Given the description of an element on the screen output the (x, y) to click on. 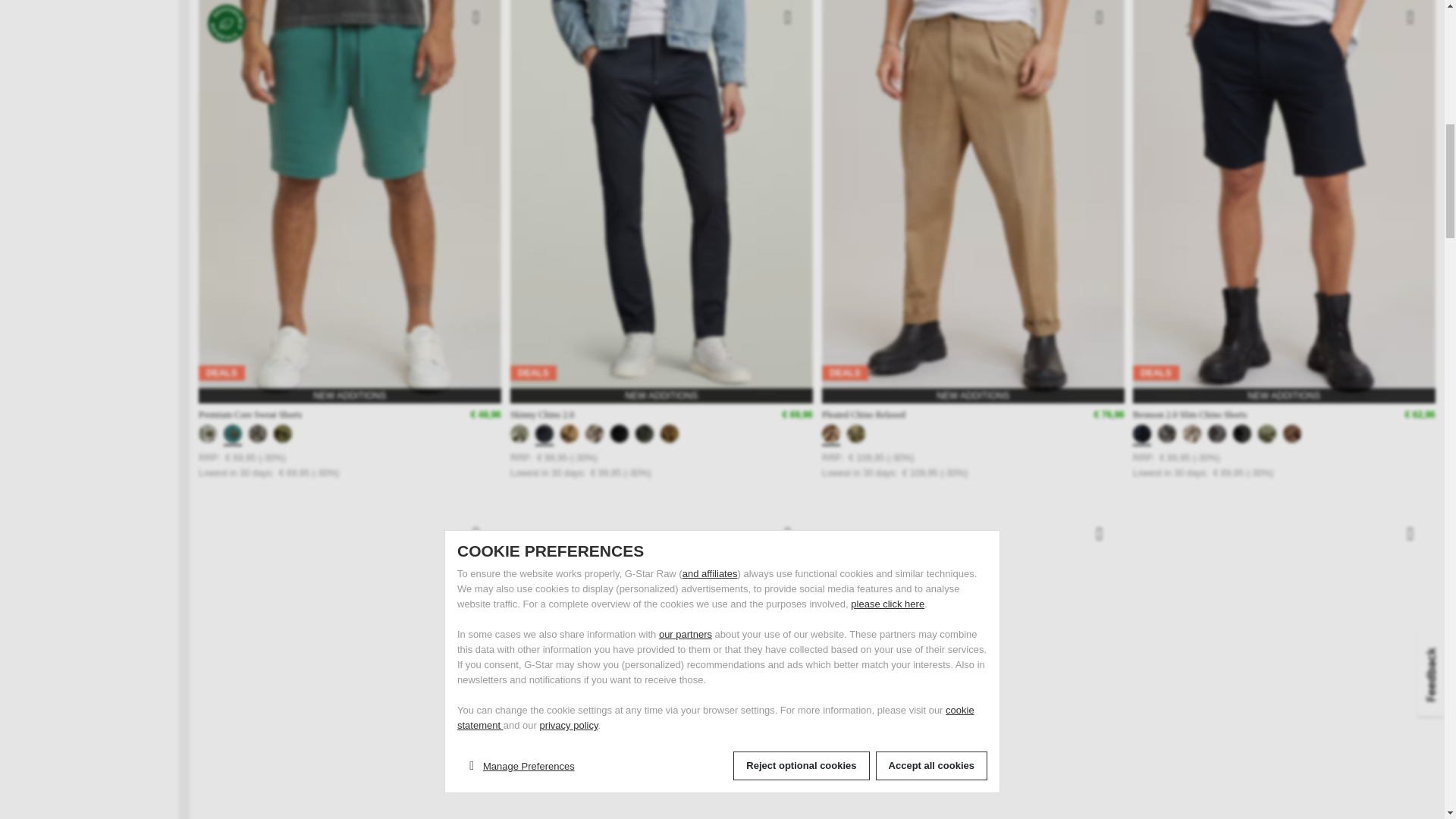
Skinny Chino 2.0 (542, 415)
Bronson 2.0 Slim Chino Shorts (1189, 415)
Premium Core Sweat Shorts (249, 415)
Pleated Chino Relaxed (863, 415)
